Given the description of an element on the screen output the (x, y) to click on. 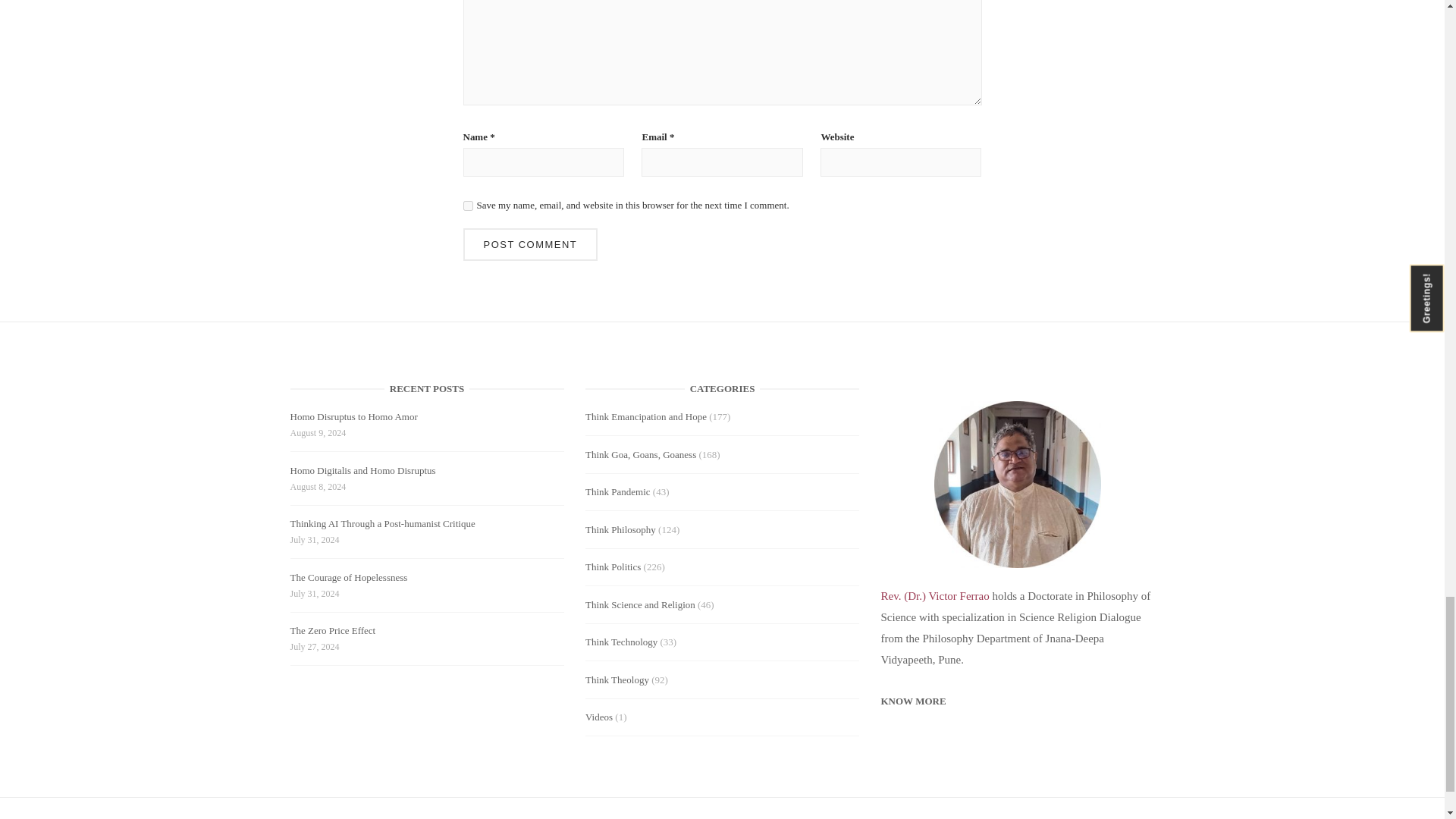
Think Philosophy (620, 529)
Thinking AI Through a Post-humanist Critique (381, 525)
Think Science and Religion (640, 604)
The Zero Price Effect (332, 632)
Think Emancipation and Hope (645, 416)
Think Politics (612, 566)
Post Comment (529, 244)
yes (467, 205)
Think Pandemic (617, 491)
Think Goa, Goans, Goaness (640, 454)
